Given the description of an element on the screen output the (x, y) to click on. 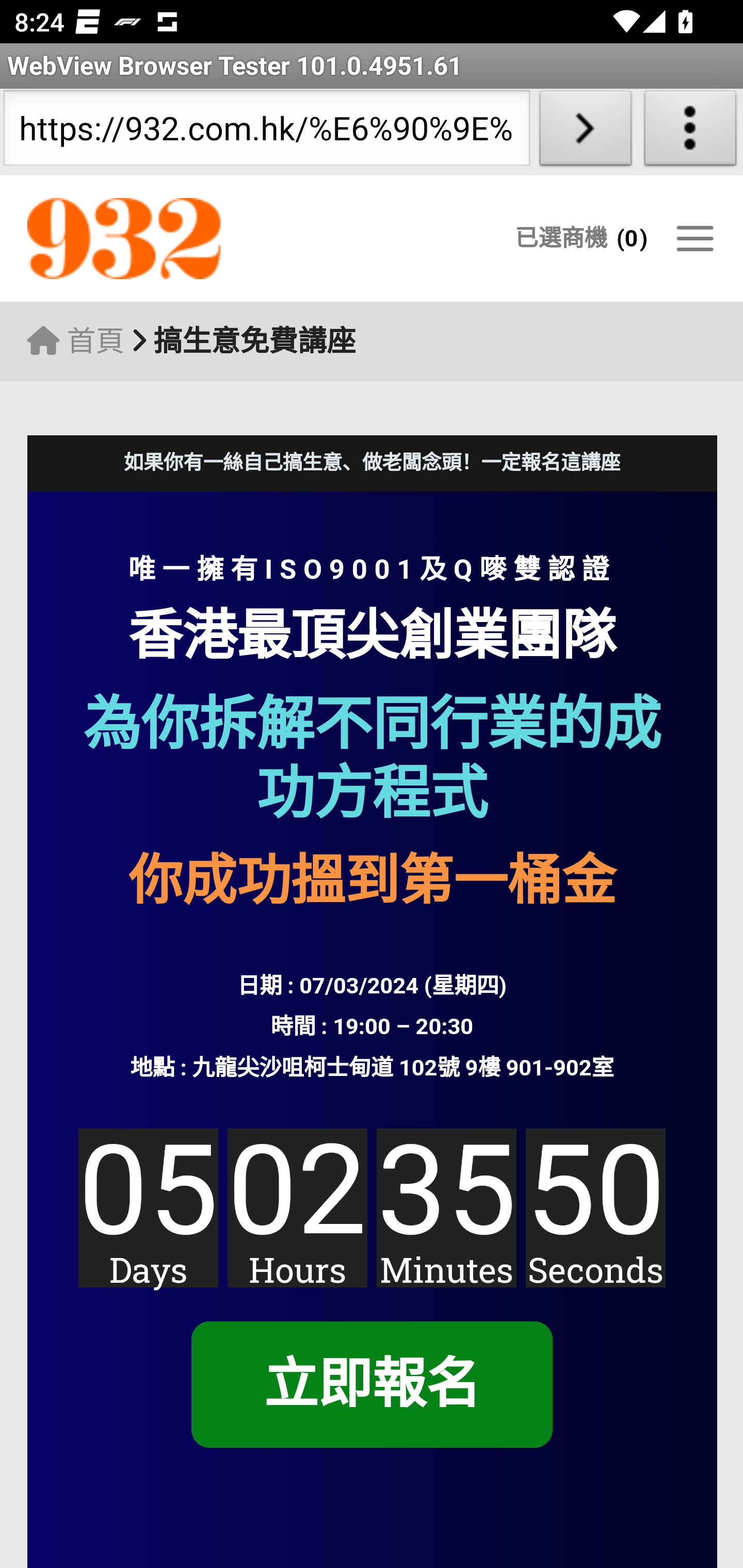
Load URL (585, 132)
About WebView (690, 132)
已選商機 ( 0 ) 已選商機 ( 0 ) (580, 237)
Menu  (694, 237)
932香港生意轉讓平台 (207, 238)
 首頁   首頁 (75, 341)
立即報名 (370, 1385)
